Given the description of an element on the screen output the (x, y) to click on. 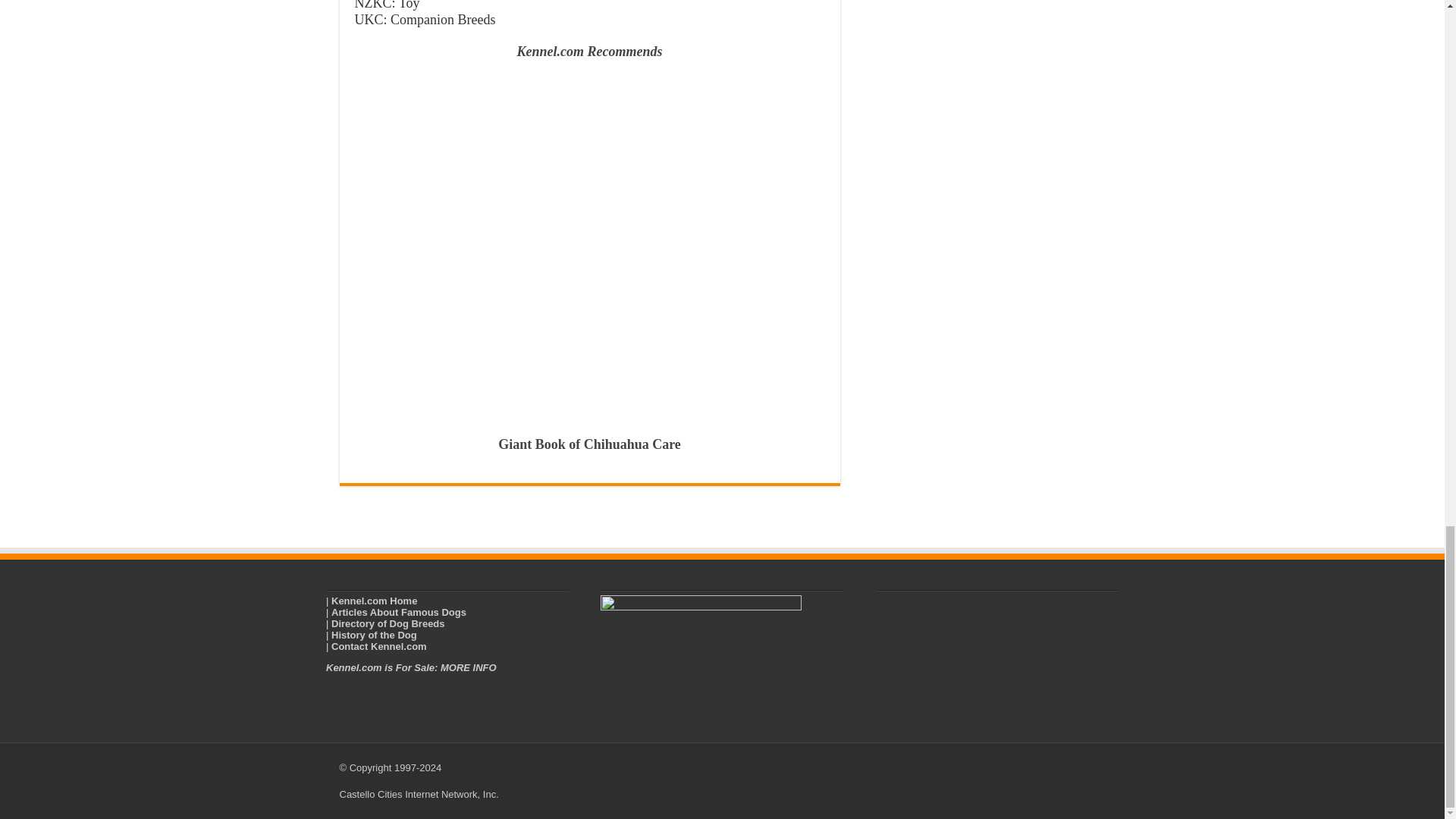
Giant Book of Chihuahua Care (589, 444)
Kennel.com Home (373, 600)
Directory of Dog Breeds (388, 623)
Contact Kennel.com (378, 645)
Kennel.com is For Sale: MORE INFO (411, 667)
History of the Dog (373, 634)
Articles About Famous Dogs (398, 612)
